Given the description of an element on the screen output the (x, y) to click on. 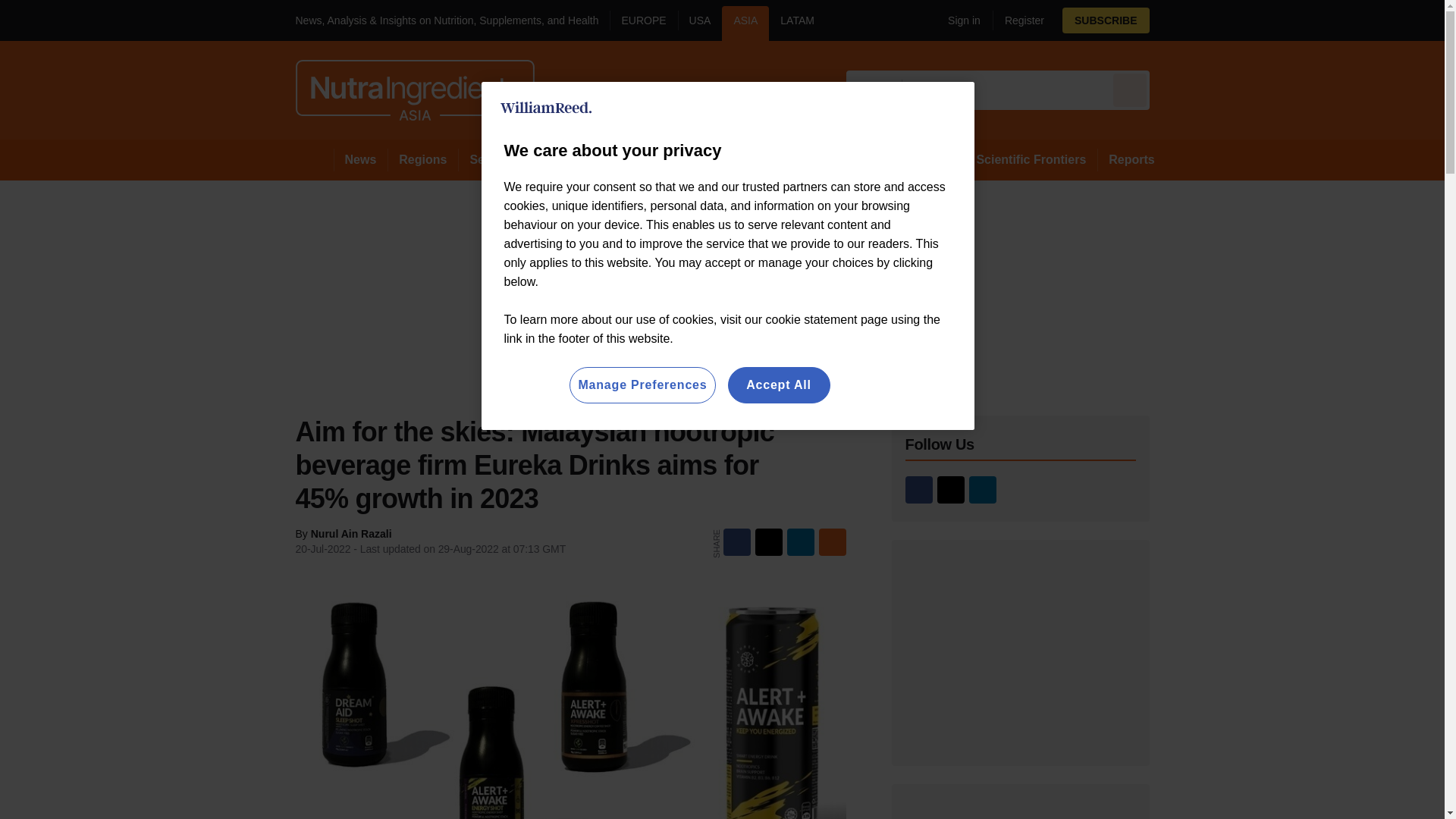
My account (1042, 20)
William Reed (545, 107)
Send (1129, 89)
Regions (422, 159)
NutraIngredients Asia (414, 89)
Home (314, 159)
Sign out (961, 20)
USA (700, 22)
Send (1129, 90)
Register (1017, 20)
Home (313, 159)
News (360, 159)
LATAM (796, 22)
SUBSCRIBE (1148, 20)
